Given the description of an element on the screen output the (x, y) to click on. 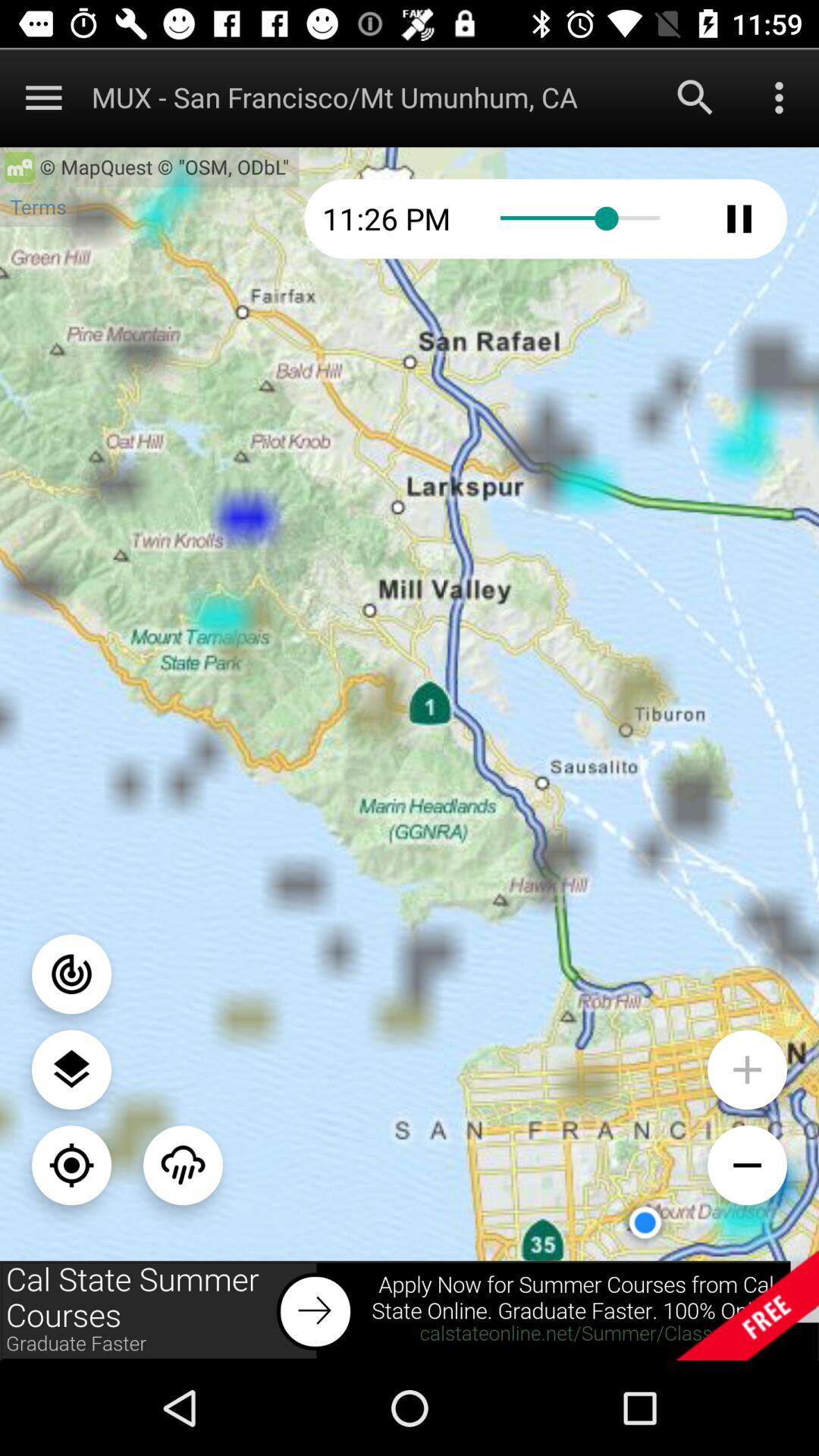
pause time lapse (739, 218)
